Given the description of an element on the screen output the (x, y) to click on. 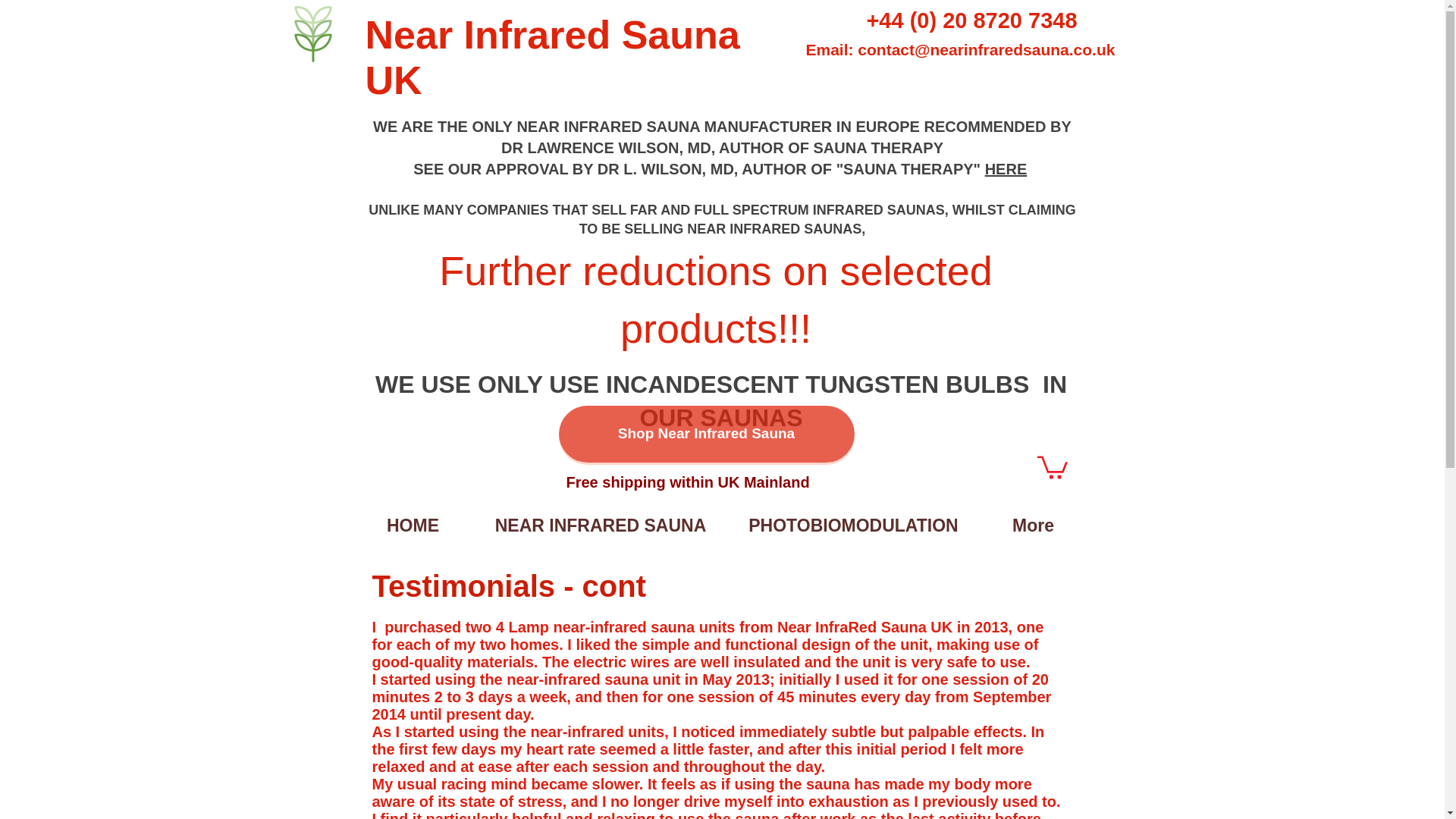
HERE (1006, 168)
HOME (412, 525)
Near Infrared Sauna UK (552, 57)
Shop Near Infrared Sauna (705, 433)
PHOTOBIOMODULATION (853, 525)
NEAR INFRARED SAUNA (600, 525)
